Given the description of an element on the screen output the (x, y) to click on. 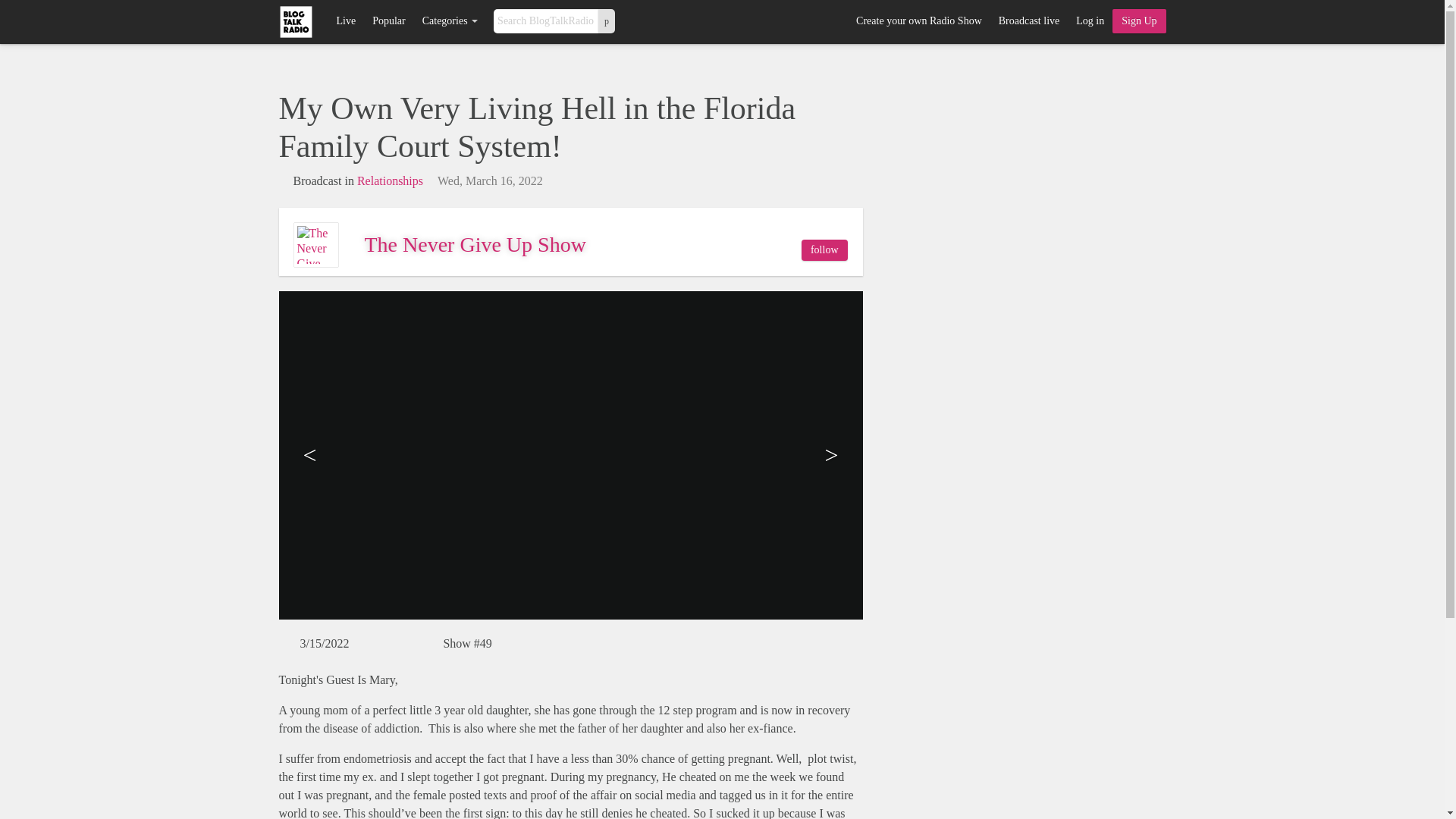
Broadcast live (1028, 20)
Follow The Never Give Up Show (824, 250)
Live (345, 20)
Create My Talk Show (1139, 21)
Sign Up (1139, 21)
Categories (449, 20)
Log in (1089, 20)
Create your own Radio Show (918, 20)
Popular (388, 20)
